Given the description of an element on the screen output the (x, y) to click on. 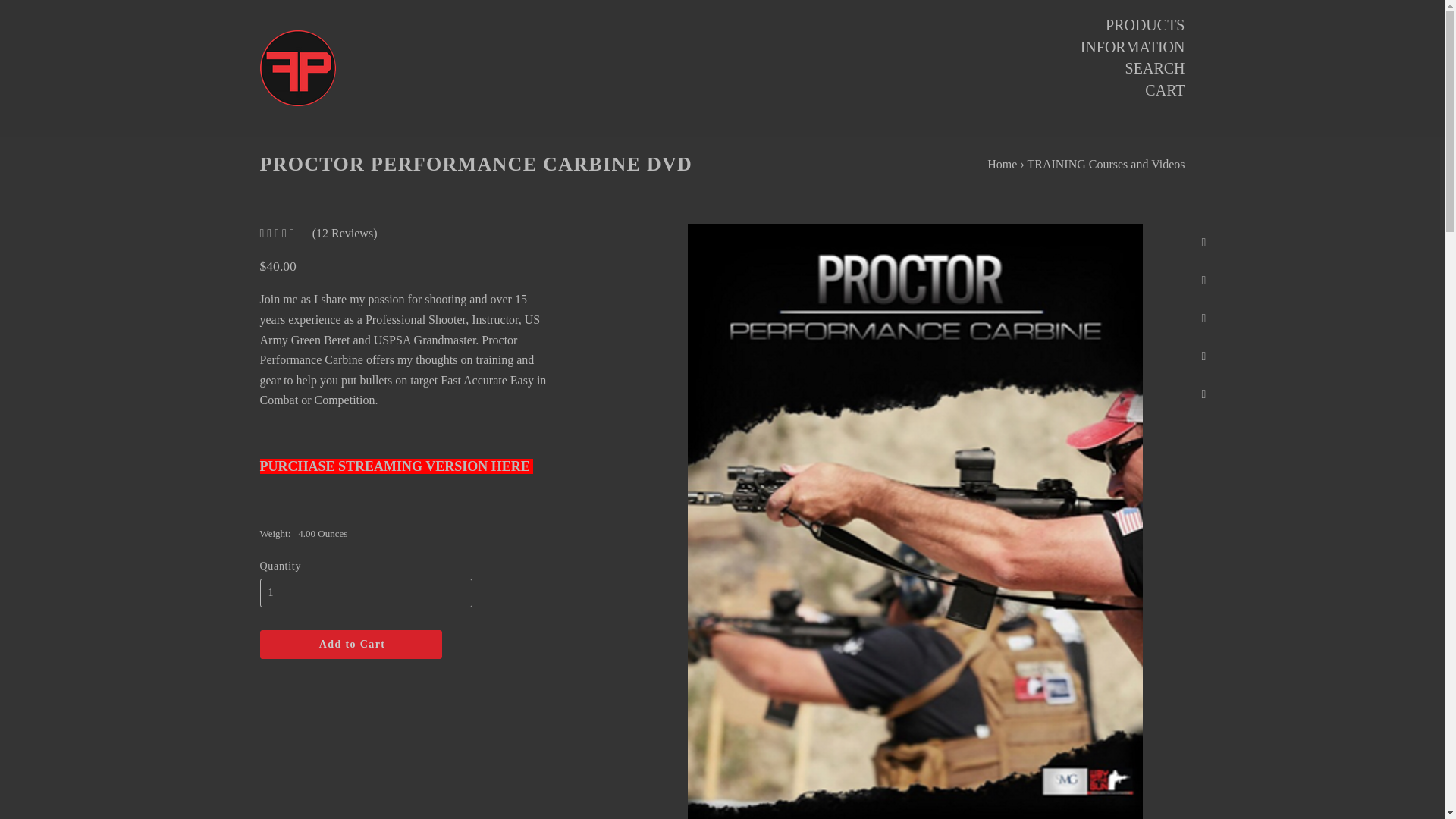
Home (1001, 164)
INFORMATION (1132, 46)
Add to Cart (350, 644)
1 (365, 592)
TRAINING Courses and Videos (1105, 164)
PRODUCTS (1145, 25)
PURCHASE STREAMING VERSION HERE  (395, 466)
SEARCH (1155, 67)
CART (1164, 89)
